Given the description of an element on the screen output the (x, y) to click on. 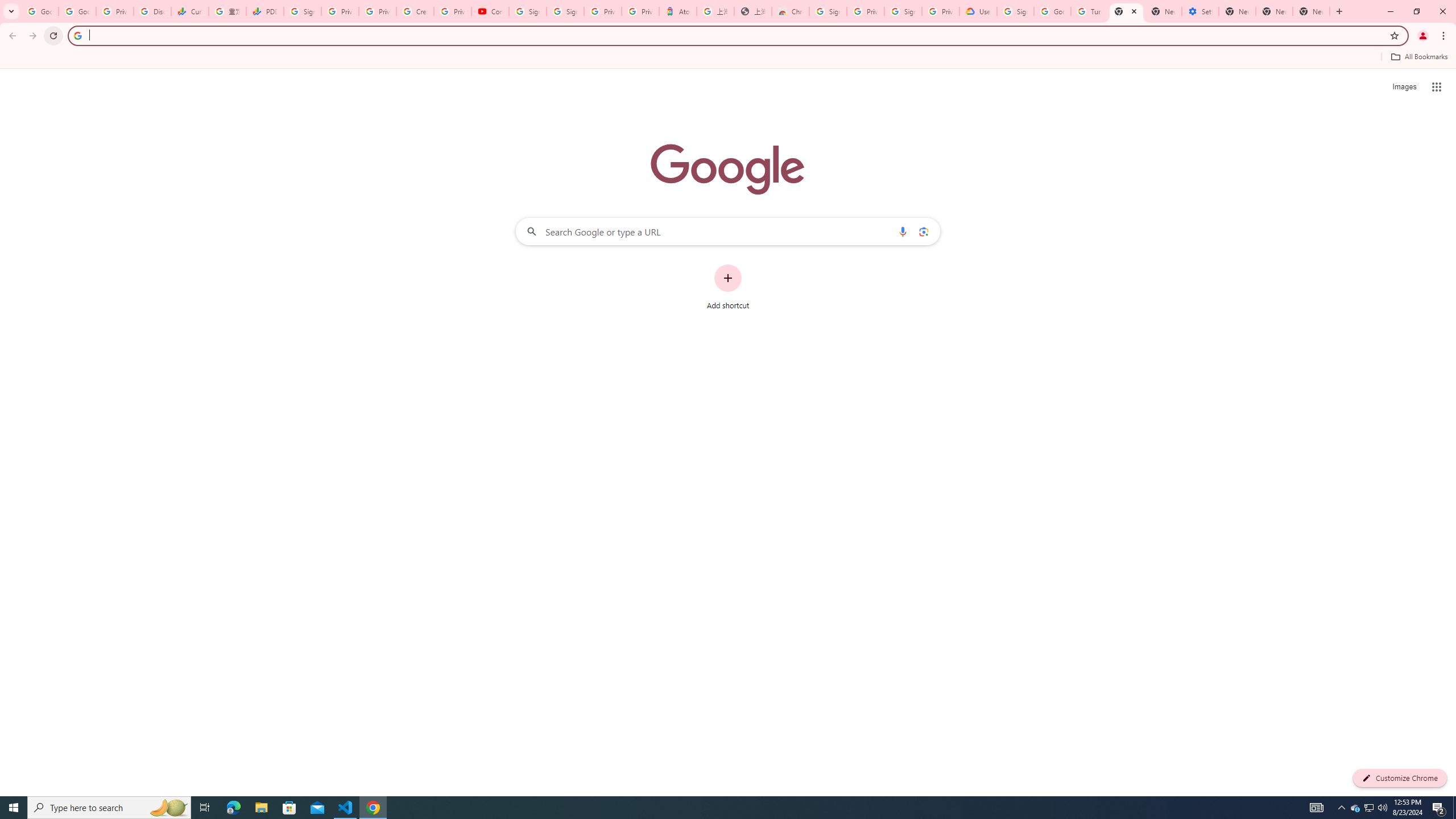
Sign in - Google Accounts (302, 11)
Search Google or type a URL (727, 230)
Currencies - Google Finance (189, 11)
Create your Google Account (415, 11)
